Given the description of an element on the screen output the (x, y) to click on. 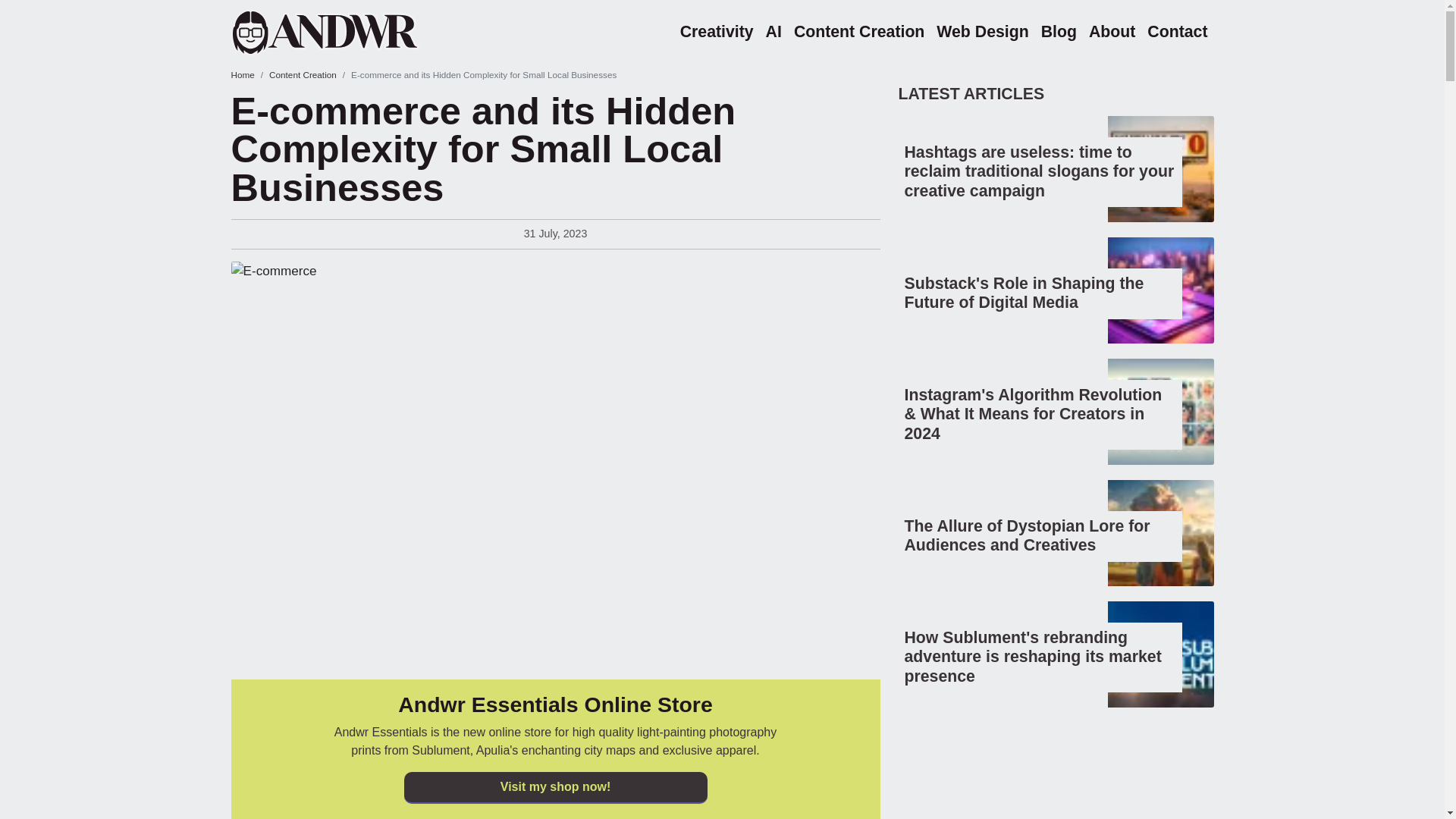
andwr (344, 31)
Home (241, 74)
Contact (1176, 32)
Substack's Role in Shaping the Future of Digital Media (1024, 293)
Blog (1059, 32)
Home (344, 31)
Creativity (717, 32)
Content Creation (858, 32)
Web Design (981, 32)
